Given the description of an element on the screen output the (x, y) to click on. 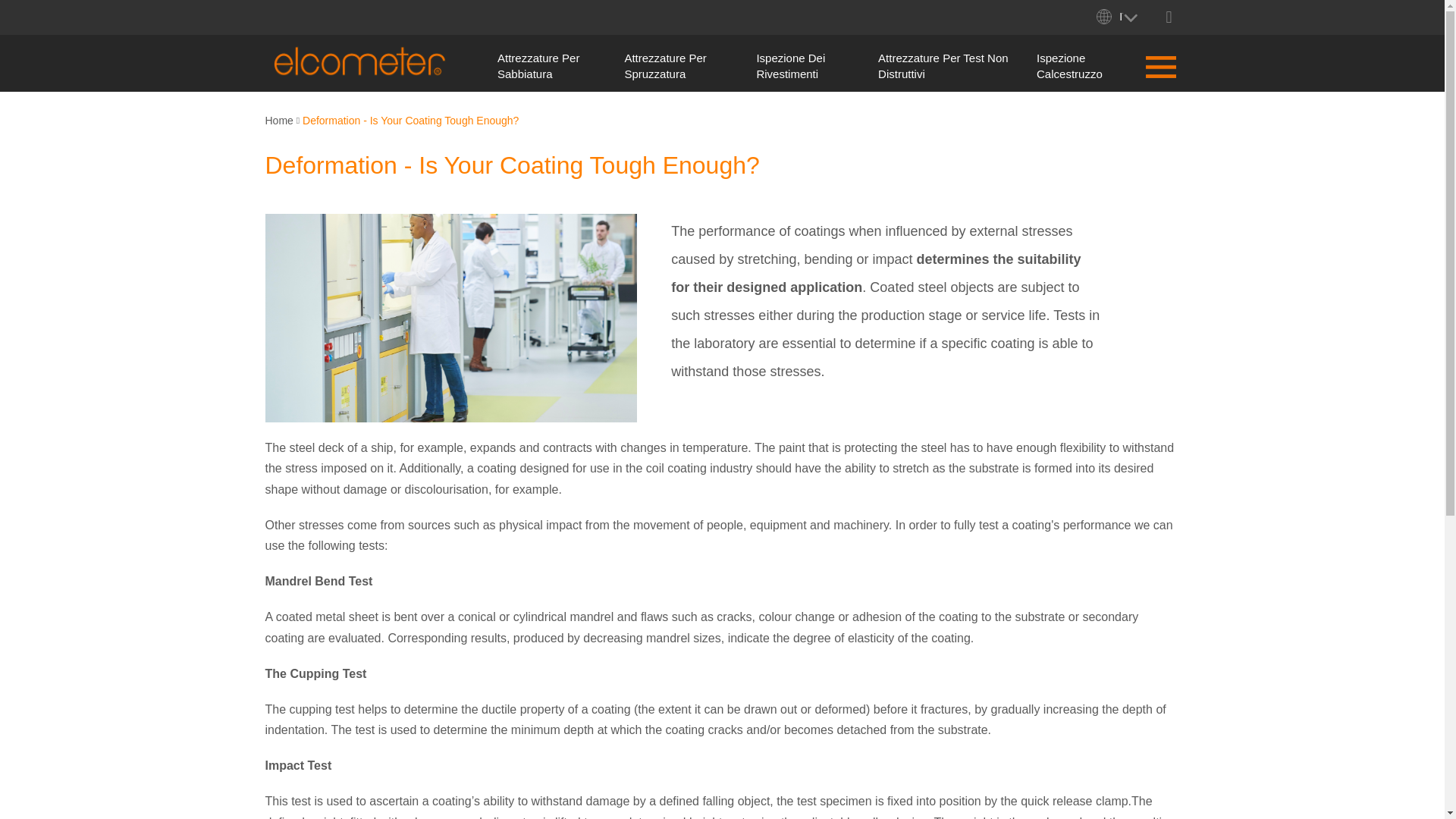
Go to Home Page (280, 120)
Attrezzature Per Sabbiatura (538, 65)
Attrezzature Per Spruzzatura (665, 65)
Ispezione Dei Rivestimenti (790, 65)
